Given the description of an element on the screen output the (x, y) to click on. 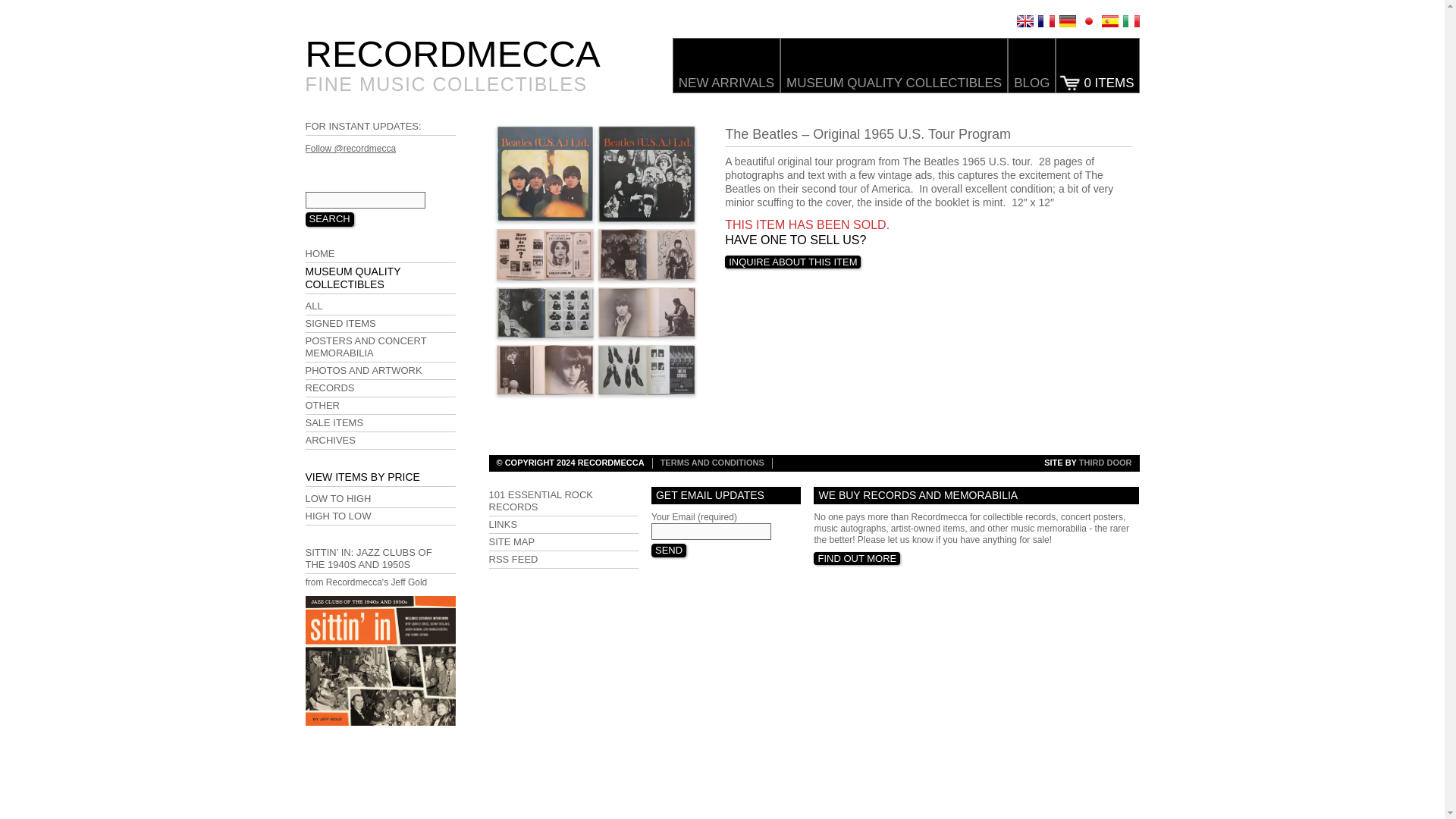
English (1024, 21)
RECORDMECCA (451, 53)
Recordmecca on Instagram (362, 167)
HOME (379, 253)
POSTERS AND CONCERT MEMORABILIA (379, 347)
French (1045, 21)
Japanese (1088, 21)
Search (328, 219)
Skip to content (334, 42)
Checkout (1096, 65)
NEW ARRIVALS (726, 65)
SIGNED ITEMS (379, 323)
Skip to content (334, 42)
ALL (379, 306)
MUSEUM QUALITY COLLECTIBLES (893, 65)
